Given the description of an element on the screen output the (x, y) to click on. 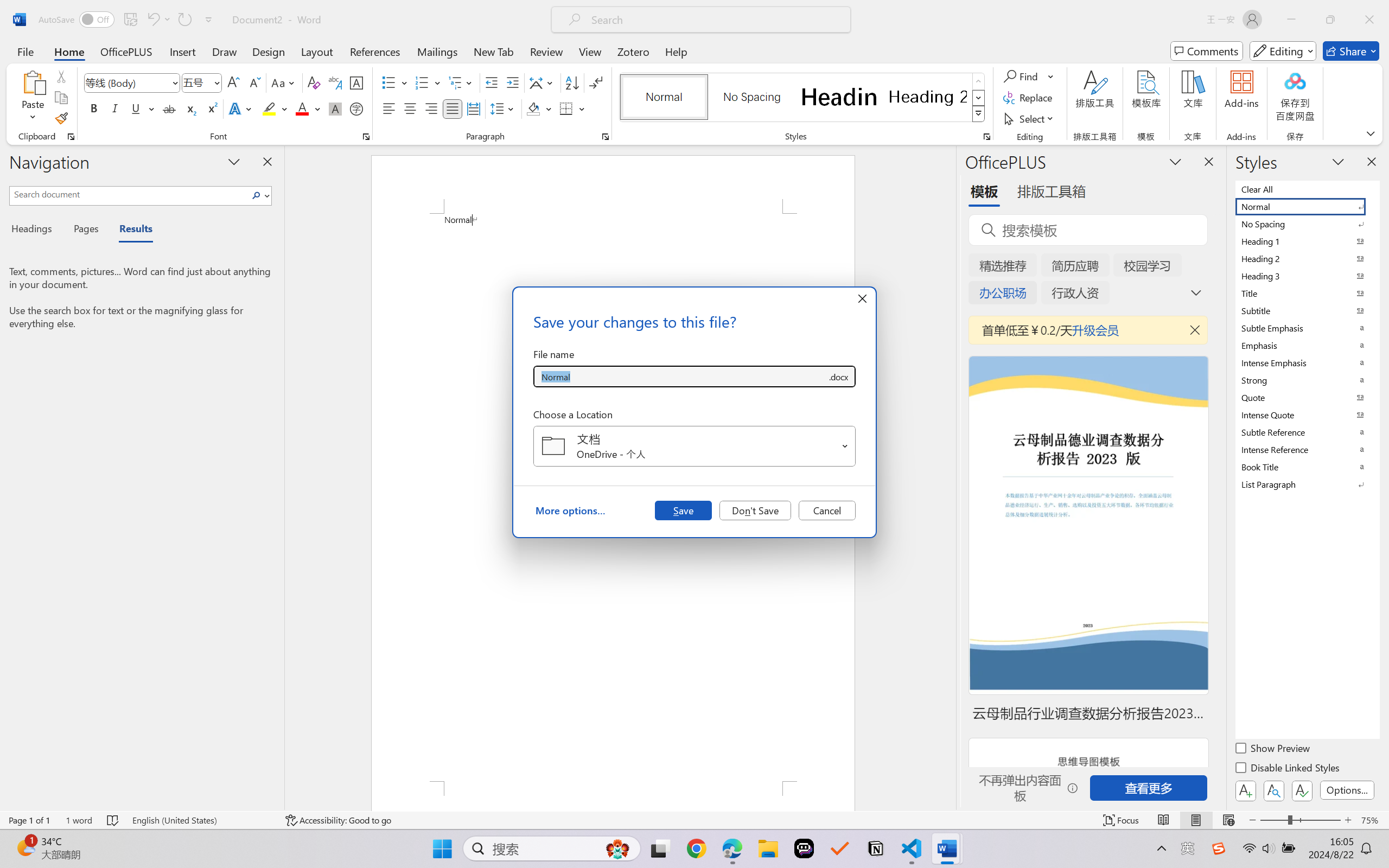
Replace... (1029, 97)
Underline (135, 108)
More Options (1051, 75)
Format Painter (60, 118)
Row Down (978, 97)
Layout (316, 51)
Grow Font (233, 82)
Heading 1 (839, 96)
Change Case (284, 82)
Distributed (473, 108)
Find (1022, 75)
